Given the description of an element on the screen output the (x, y) to click on. 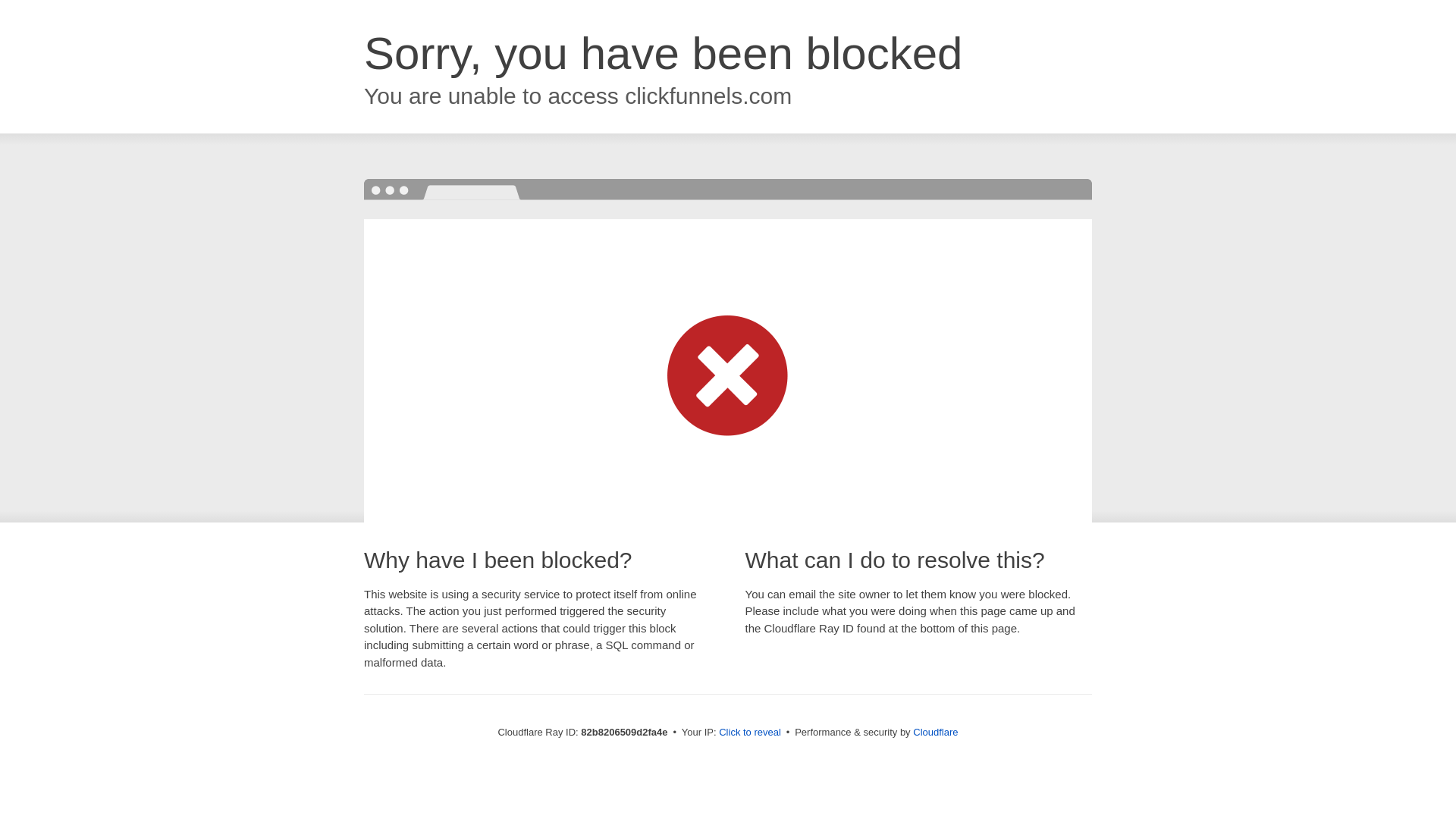
Click to reveal Element type: text (749, 732)
Cloudflare Element type: text (935, 731)
